Given the description of an element on the screen output the (x, y) to click on. 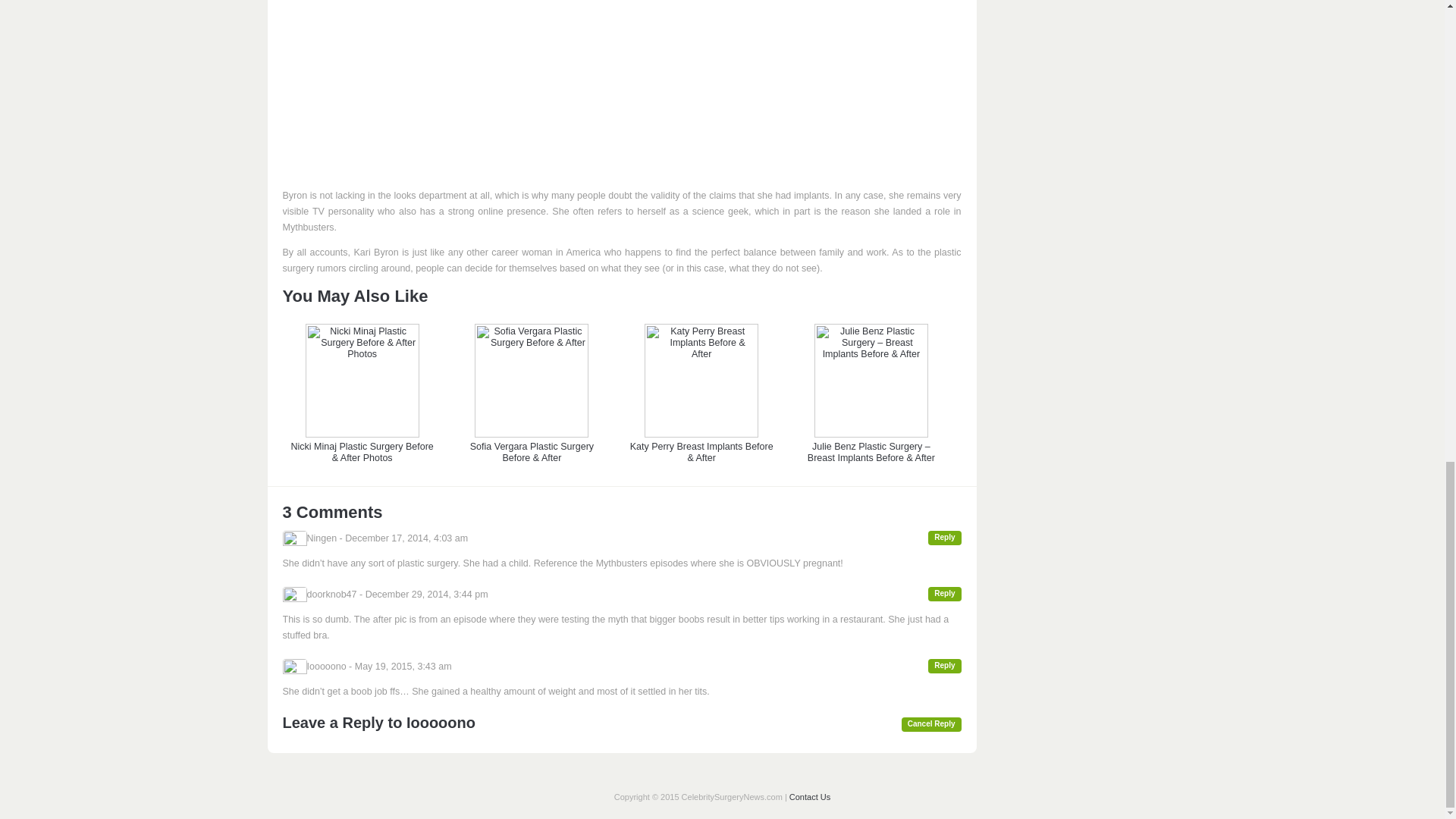
Reply (944, 594)
Contact Us (809, 796)
Reply (944, 537)
Cancel Reply (930, 724)
Reply (944, 666)
Iooooono (441, 722)
